Given the description of an element on the screen output the (x, y) to click on. 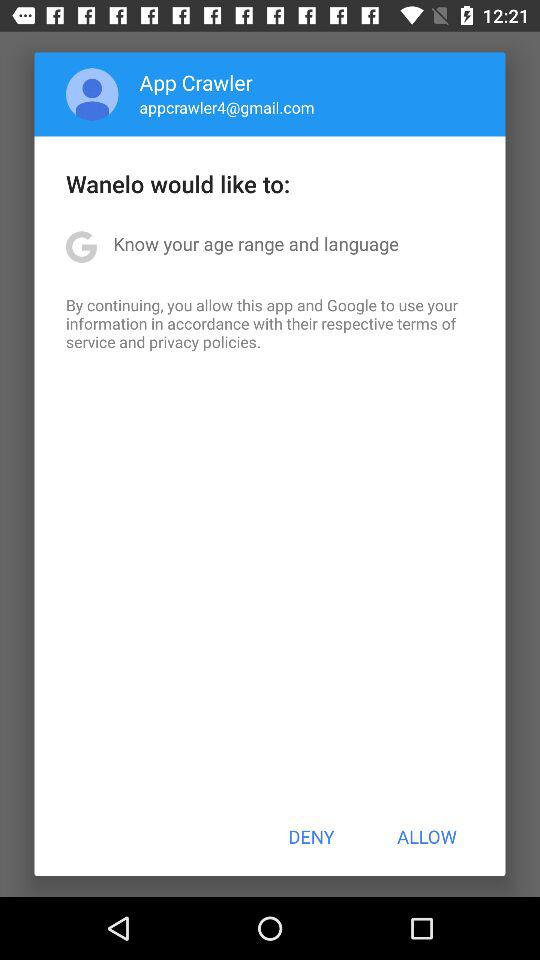
open the app above the by continuing you item (255, 243)
